Given the description of an element on the screen output the (x, y) to click on. 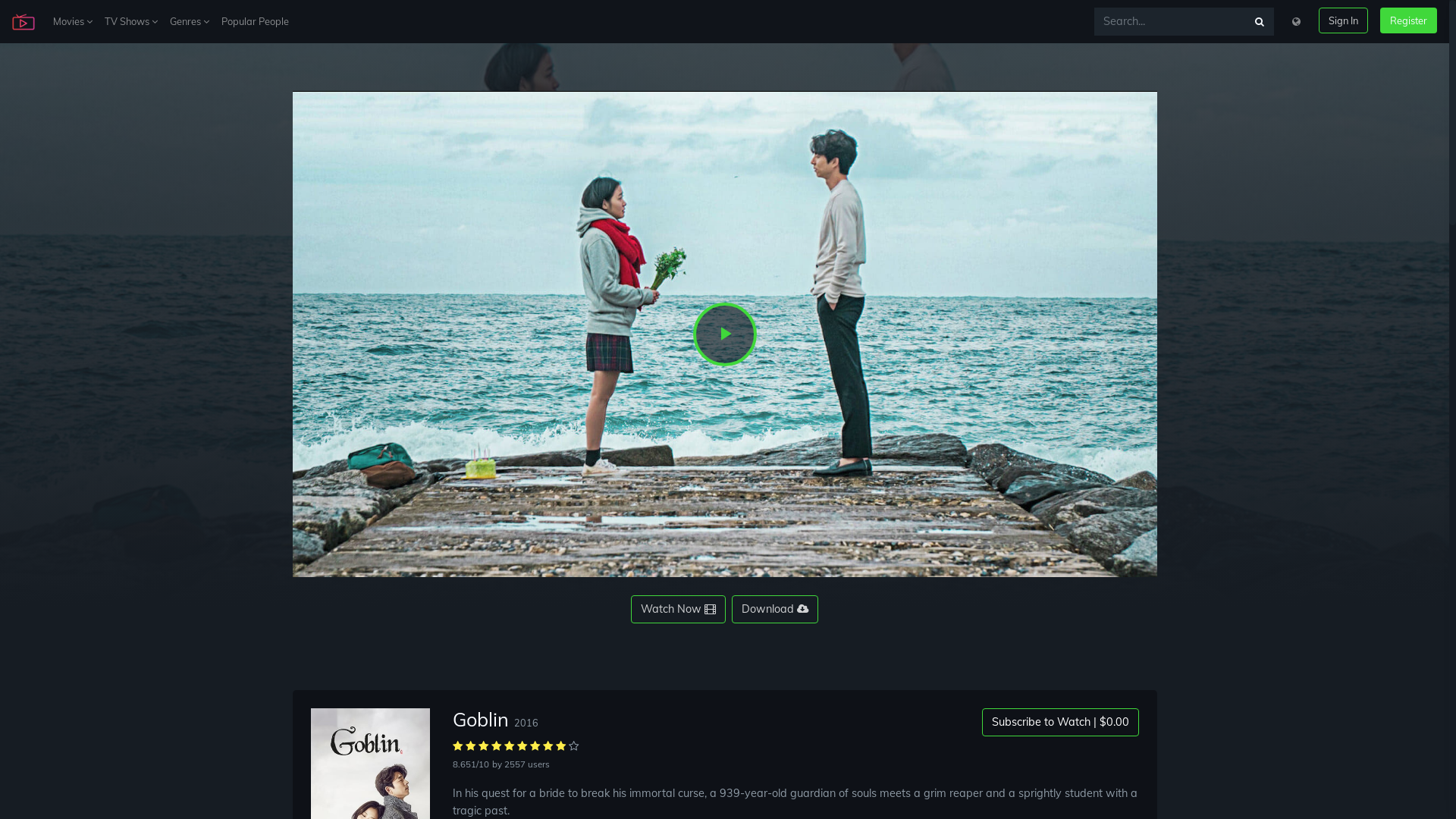
TV Shows Element type: text (130, 20)
Play Video Element type: text (724, 334)
Genres Element type: text (189, 20)
Popular People Element type: text (254, 20)
Register Element type: text (1408, 20)
Download Element type: text (774, 609)
Watch Now Element type: text (677, 609)
Movies Element type: text (72, 20)
Sign In Element type: text (1343, 20)
Subscribe to Watch | $0.00 Element type: text (1059, 722)
